Given the description of an element on the screen output the (x, y) to click on. 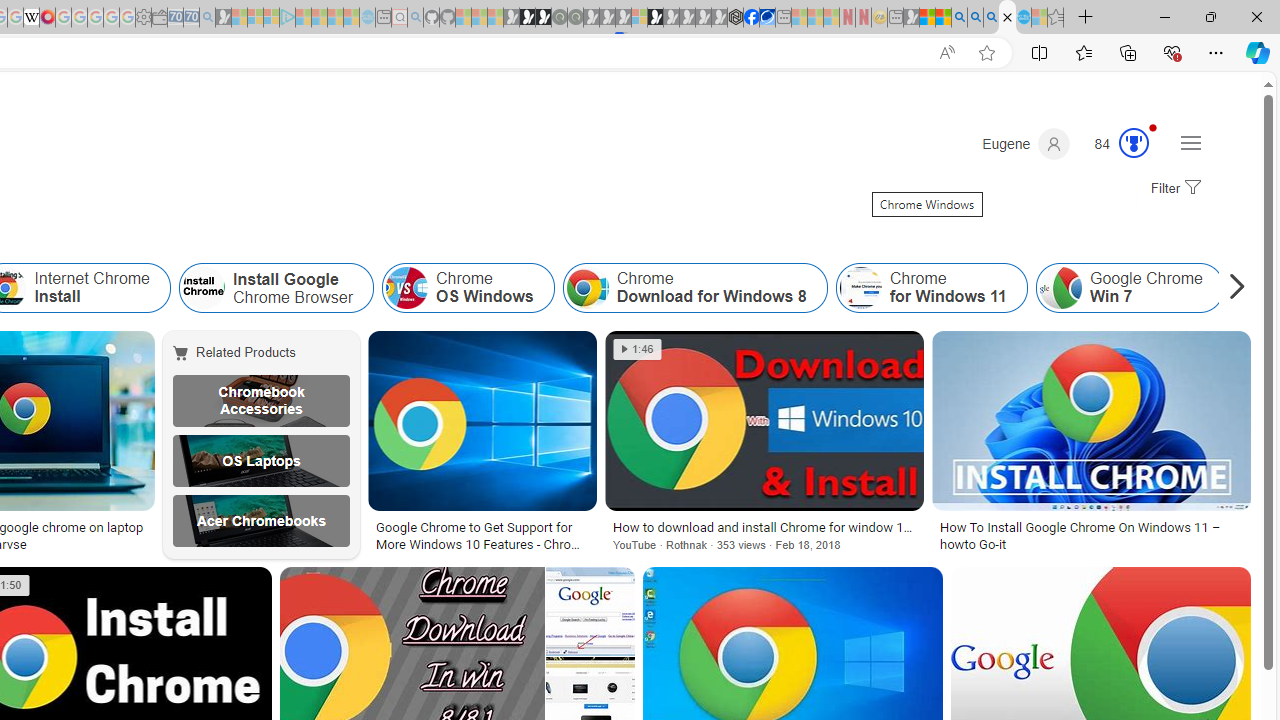
Microsoft Start Gaming - Sleeping (223, 17)
Chrome for Windows 11 (859, 287)
Wallet - Sleeping (159, 17)
AutomationID: rh_meter (1133, 142)
Filter (1173, 189)
Eugene (1026, 143)
Chrome Download for Windows 8 (587, 287)
Chrome OS Windows (407, 287)
Microsoft account | Privacy - Sleeping (271, 17)
